Given the description of an element on the screen output the (x, y) to click on. 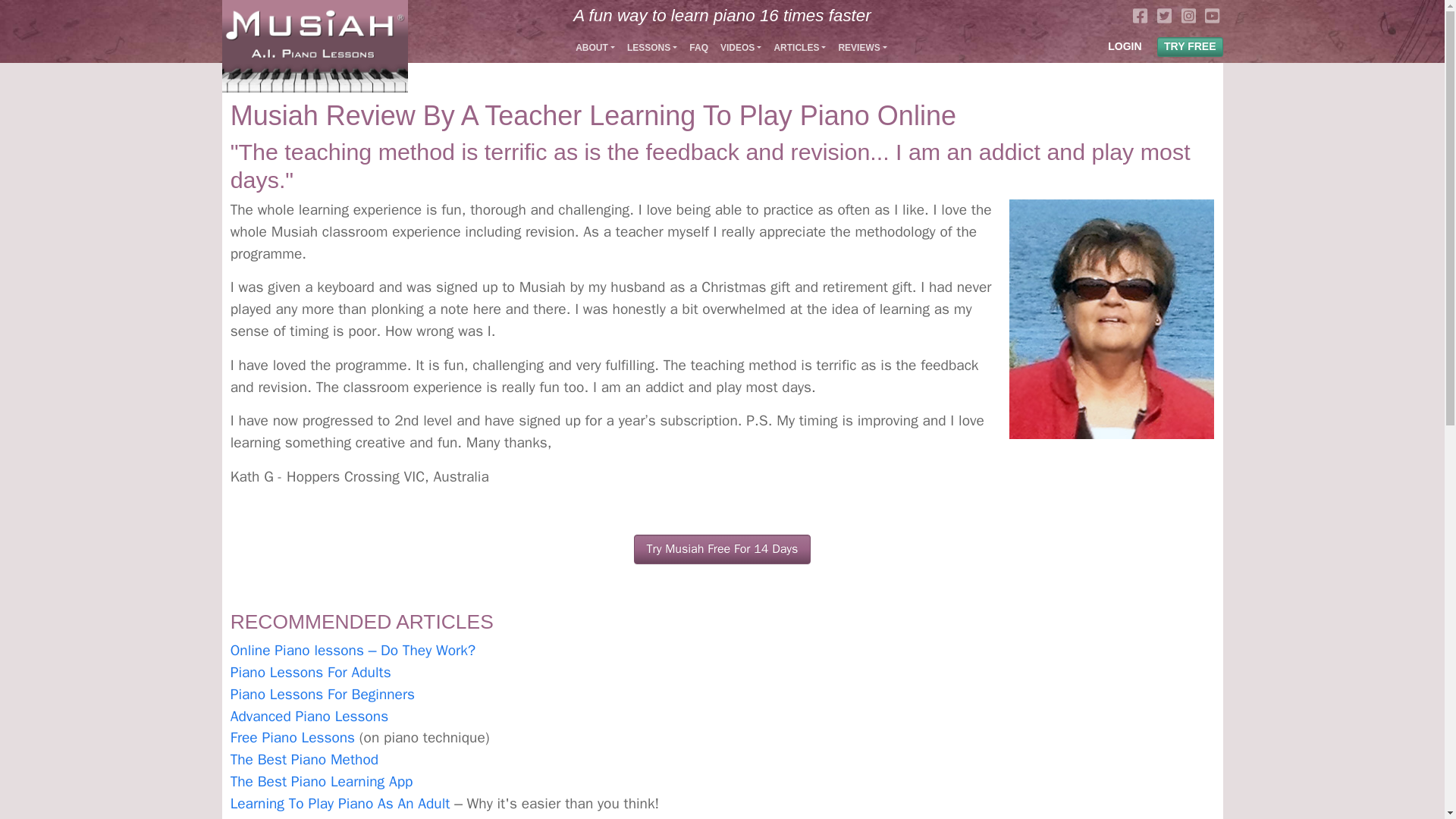
Best Piano Learning App (321, 782)
Online Piano Lessons For Beginners (322, 694)
LESSONS (651, 47)
Compare different kinds of Online Piano Lessons (353, 650)
FAQ (698, 47)
VIDEOS (740, 47)
Online Piano Lessons For Adults (310, 672)
ABOUT (595, 47)
Learning Piano As An Adult (339, 803)
ARTICLES (799, 47)
Musiah Piano Lessons 14 Day Free Trial (721, 549)
Advanced Piano Lessons Online (309, 716)
Free Piano Lessons Online (292, 737)
The Best Method For Learning Piano (304, 760)
REVIEWS (861, 47)
